Given the description of an element on the screen output the (x, y) to click on. 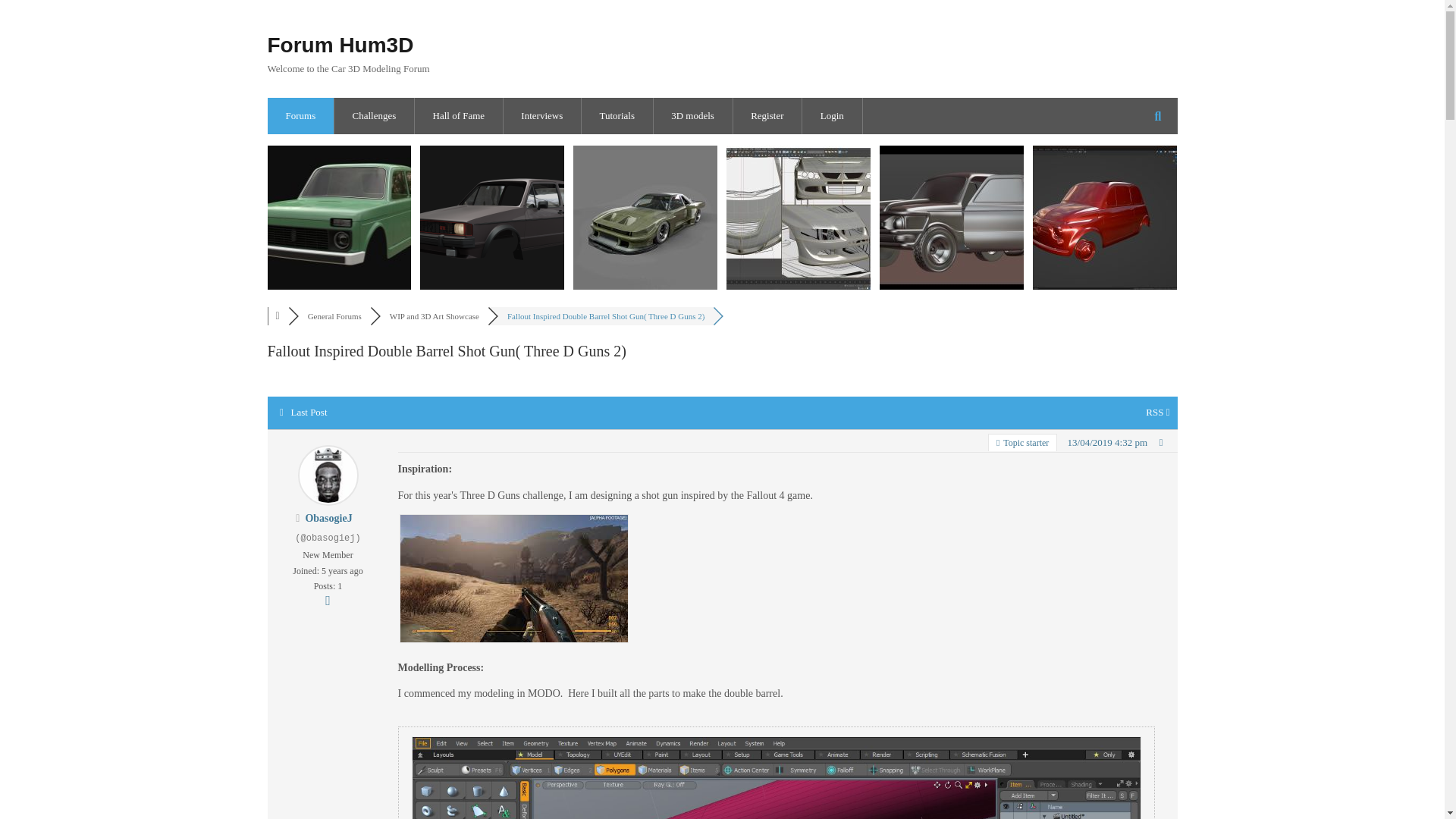
3D models (692, 115)
Challenges (373, 115)
Topic RSS Feed (1157, 411)
Forums (299, 115)
WIP and 3D Art Showcase (434, 316)
Forum Hum3D (339, 44)
Interviews (541, 115)
Register (767, 115)
Tutorials (616, 115)
WIP and 3D Art Showcase (434, 316)
